Given the description of an element on the screen output the (x, y) to click on. 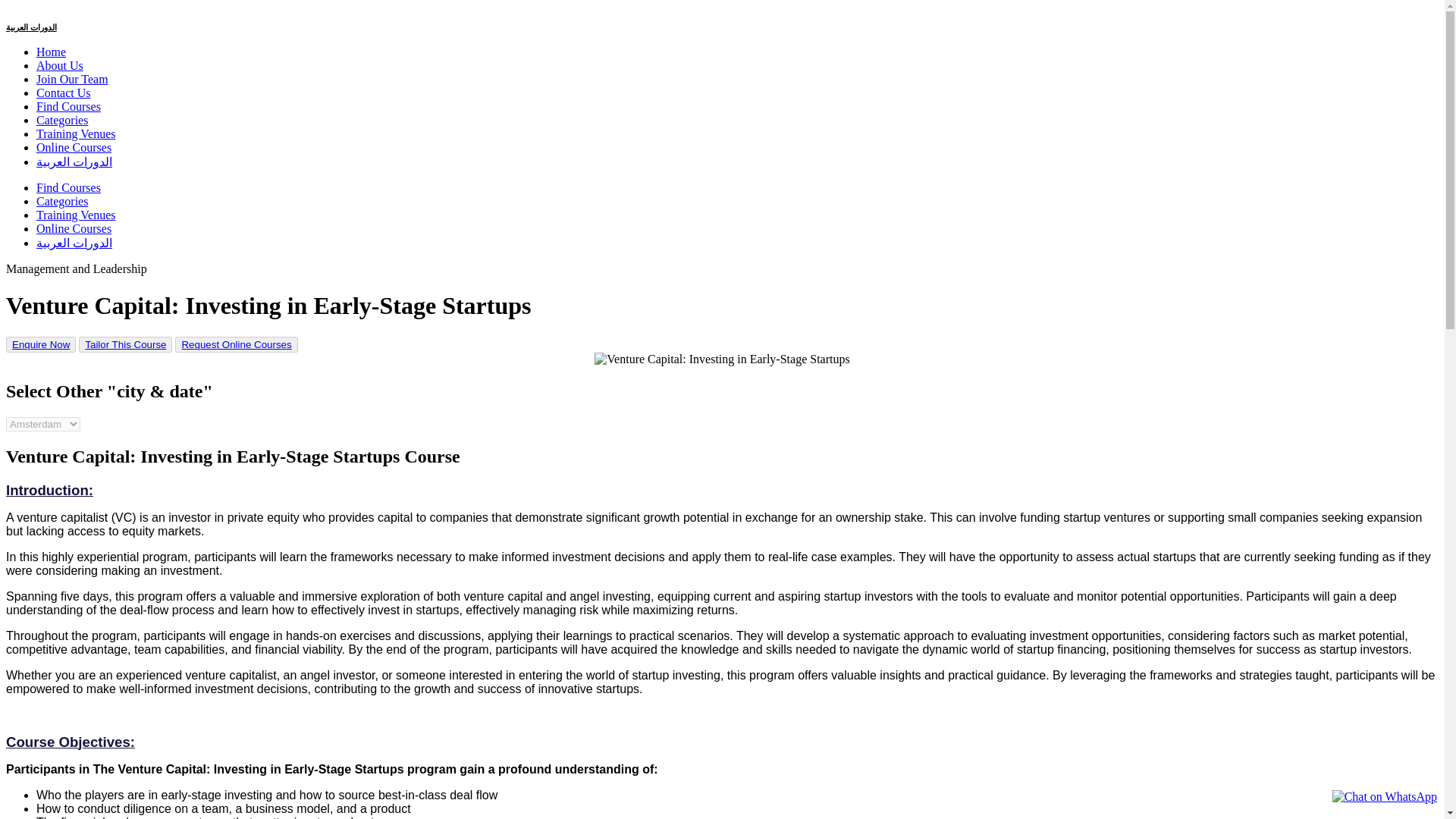
Find Courses (68, 106)
Enquire Now (40, 344)
Tailor This Course (124, 344)
Online Courses (74, 228)
Request Online Courses (235, 344)
Categories (61, 119)
Enquire Now (40, 344)
About Us (59, 65)
Contact Us (63, 92)
Home (50, 51)
Categories (61, 201)
Training Venues (75, 133)
Tailor This Course (124, 344)
Join Our Team (71, 78)
Request Online Courses (235, 344)
